Given the description of an element on the screen output the (x, y) to click on. 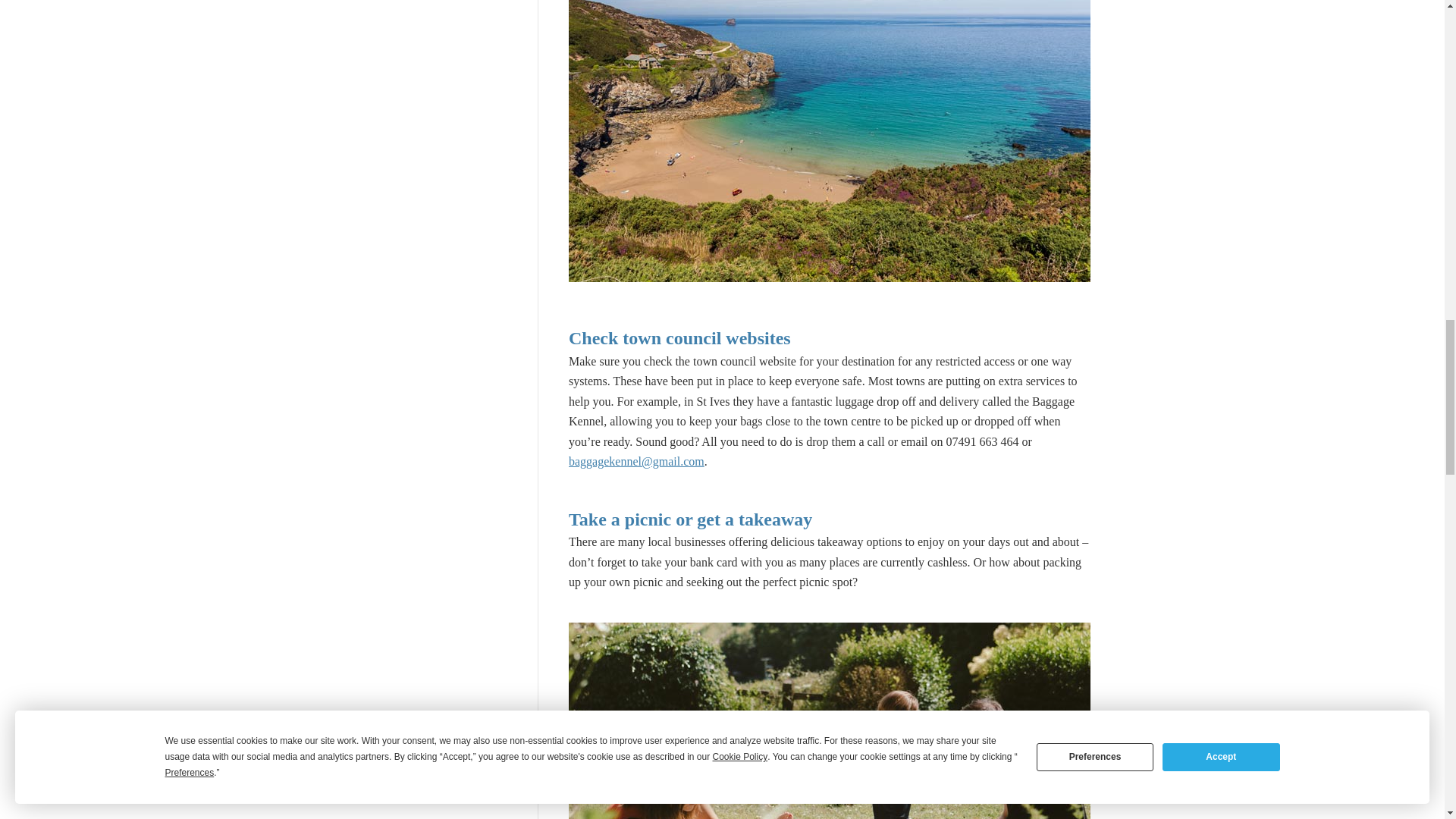
Picnic in the sun (829, 720)
